Given the description of an element on the screen output the (x, y) to click on. 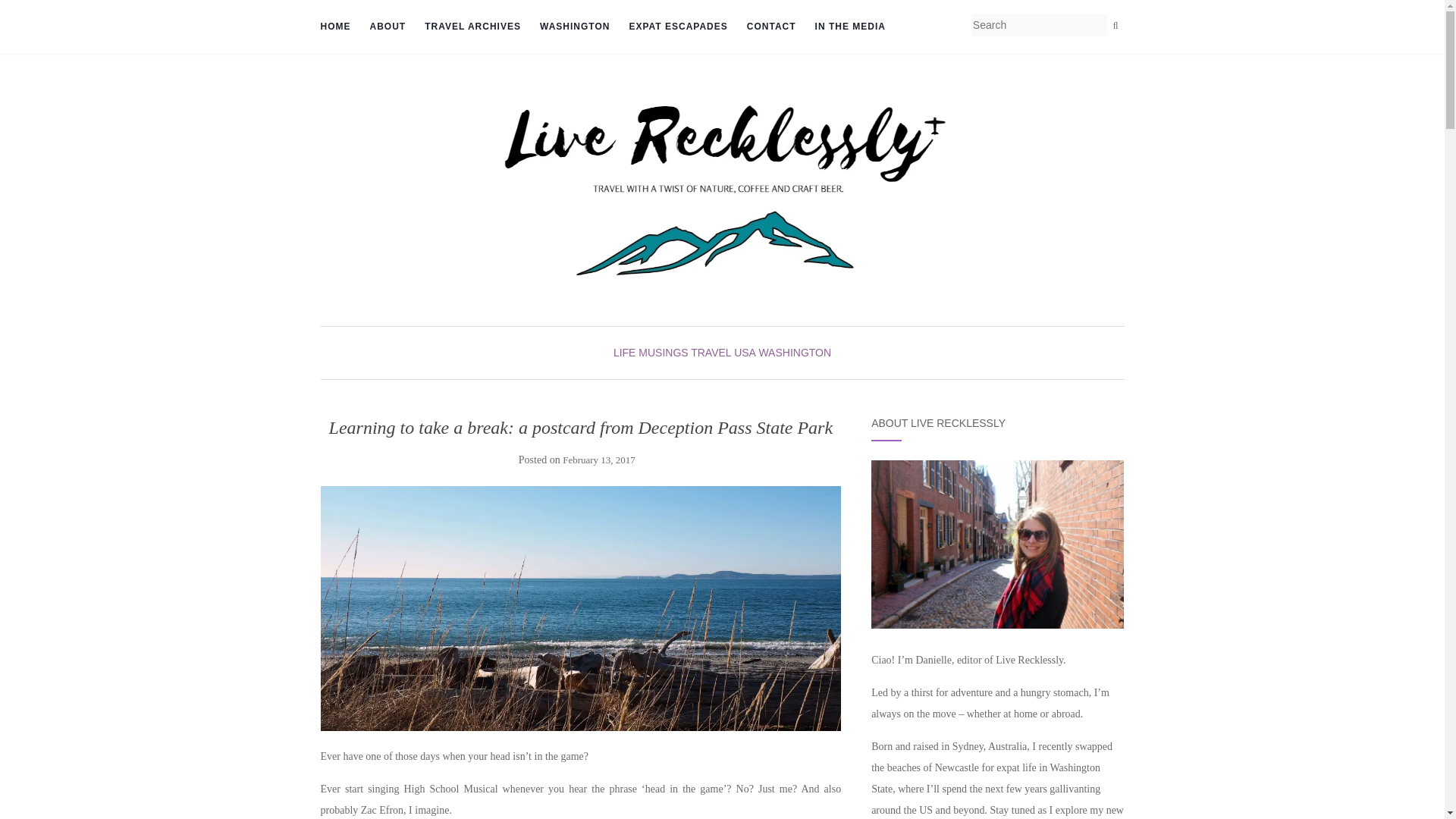
USA (744, 352)
WASHINGTON (575, 27)
Contact (771, 27)
Expat Escapades (677, 27)
LIFE MUSINGS (650, 352)
CONTACT (771, 27)
IN THE MEDIA (850, 27)
WASHINGTON (794, 352)
Travel Archives (473, 27)
TRAVEL (710, 352)
